Given the description of an element on the screen output the (x, y) to click on. 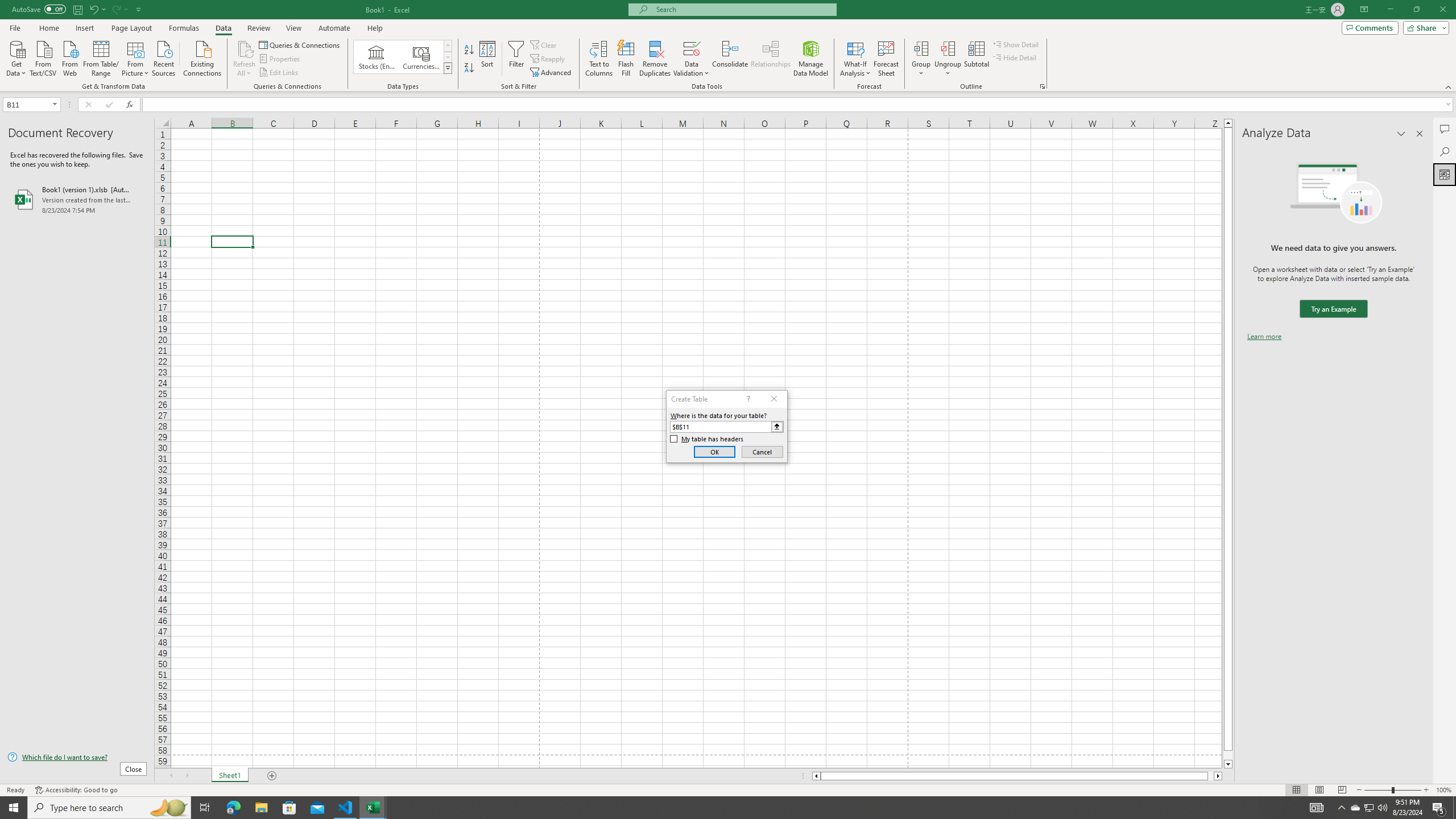
Stocks (English) (375, 56)
Existing Connections (202, 57)
AutomationID: ConvertToLinkedEntity (403, 56)
Hide Detail (1014, 56)
Data Types (448, 67)
